Given the description of an element on the screen output the (x, y) to click on. 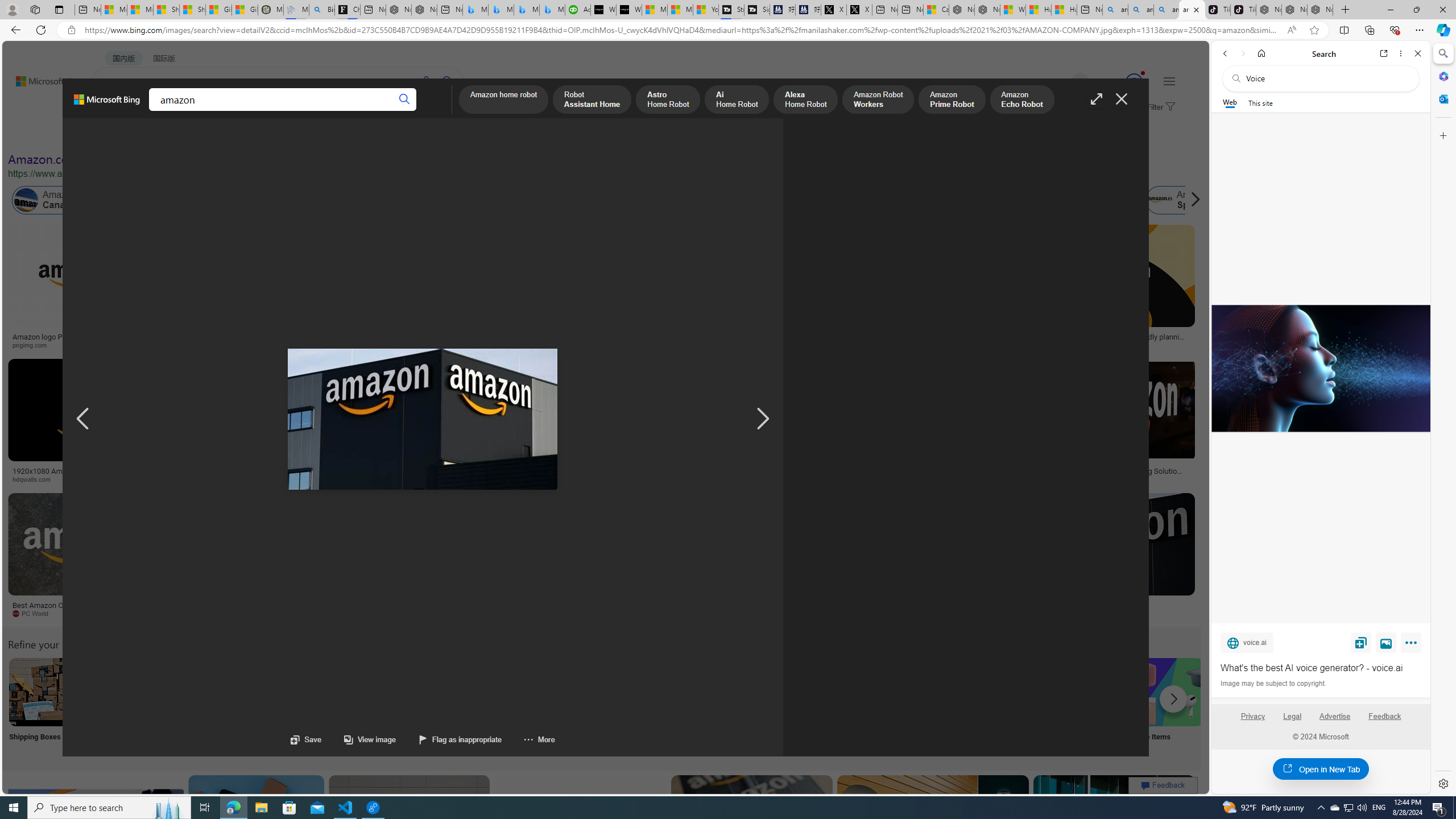
Close tab (1196, 9)
theverge.com (1118, 344)
Class: medal-circled (1133, 81)
downdetector.ae (937, 344)
Customize (1442, 135)
More options (1401, 53)
Minimize (1390, 9)
Online Shopping Homepage (868, 706)
Flag as inappropriate (460, 739)
Image size (126, 135)
